Given the description of an element on the screen output the (x, y) to click on. 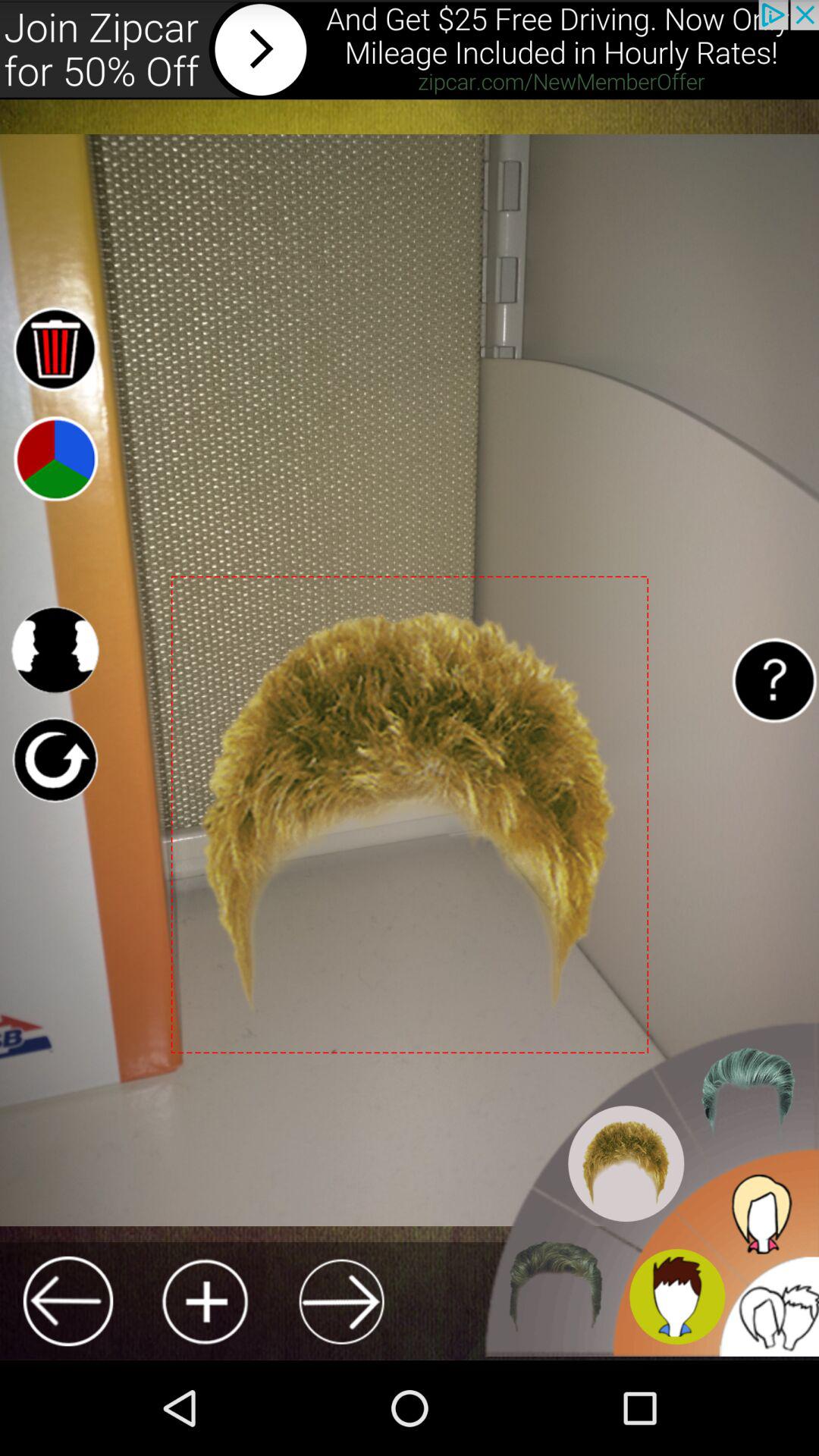
refresh button (55, 759)
